Given the description of an element on the screen output the (x, y) to click on. 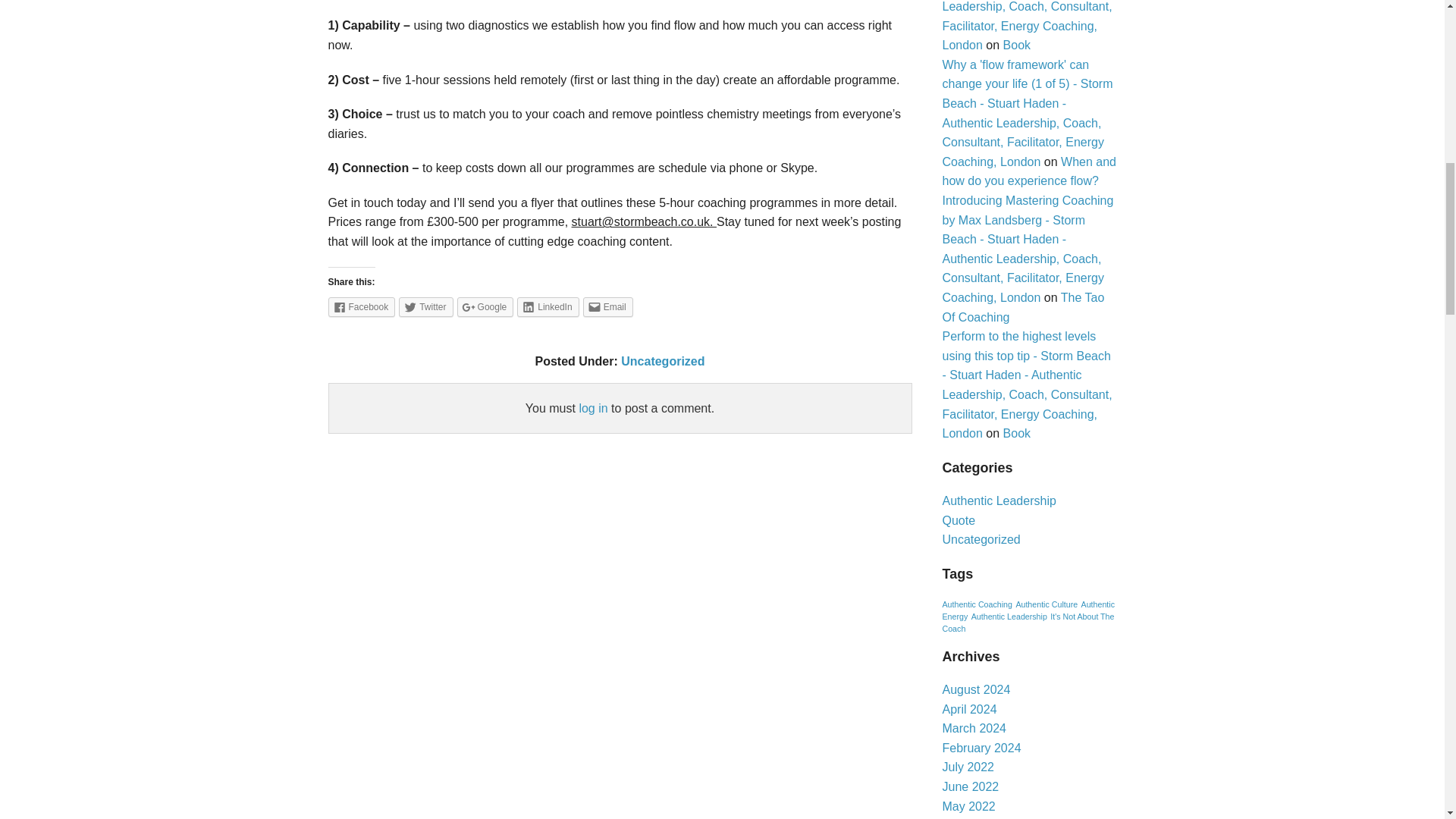
2 topics (1028, 609)
LinkedIn (547, 306)
Click to share on Facebook (360, 306)
log in (592, 408)
Twitter (425, 306)
Facebook (360, 306)
Email (608, 306)
Uncategorized (662, 360)
Click to email this to a friend (608, 306)
